Given the description of an element on the screen output the (x, y) to click on. 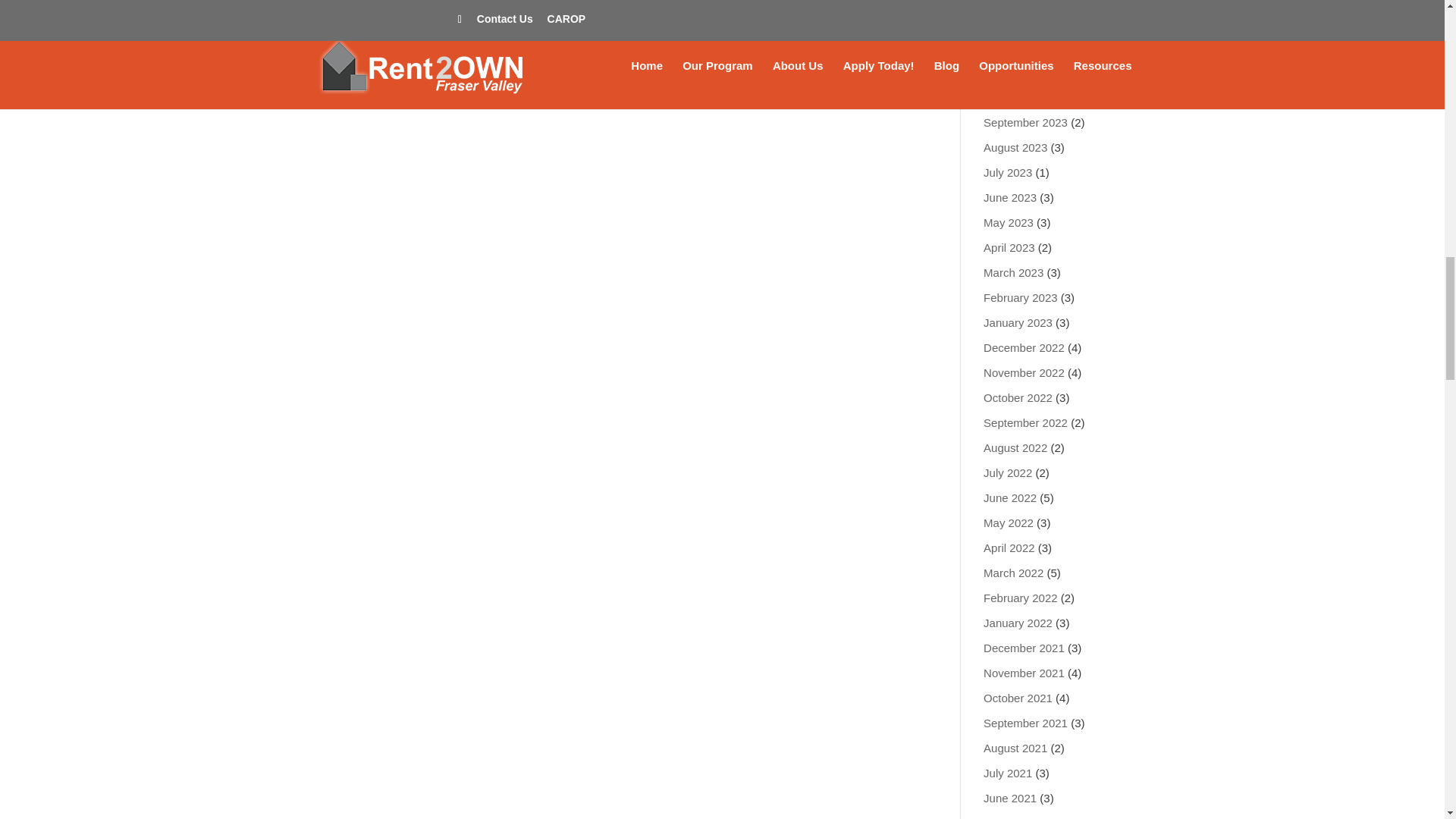
November 2022 (1024, 372)
January 2024 (1018, 21)
December 2022 (1024, 347)
July 2023 (1008, 172)
June 2023 (1010, 196)
February 2024 (1021, 2)
February 2023 (1021, 297)
March 2023 (1013, 272)
September 2023 (1025, 122)
November 2023 (1024, 72)
